Given the description of an element on the screen output the (x, y) to click on. 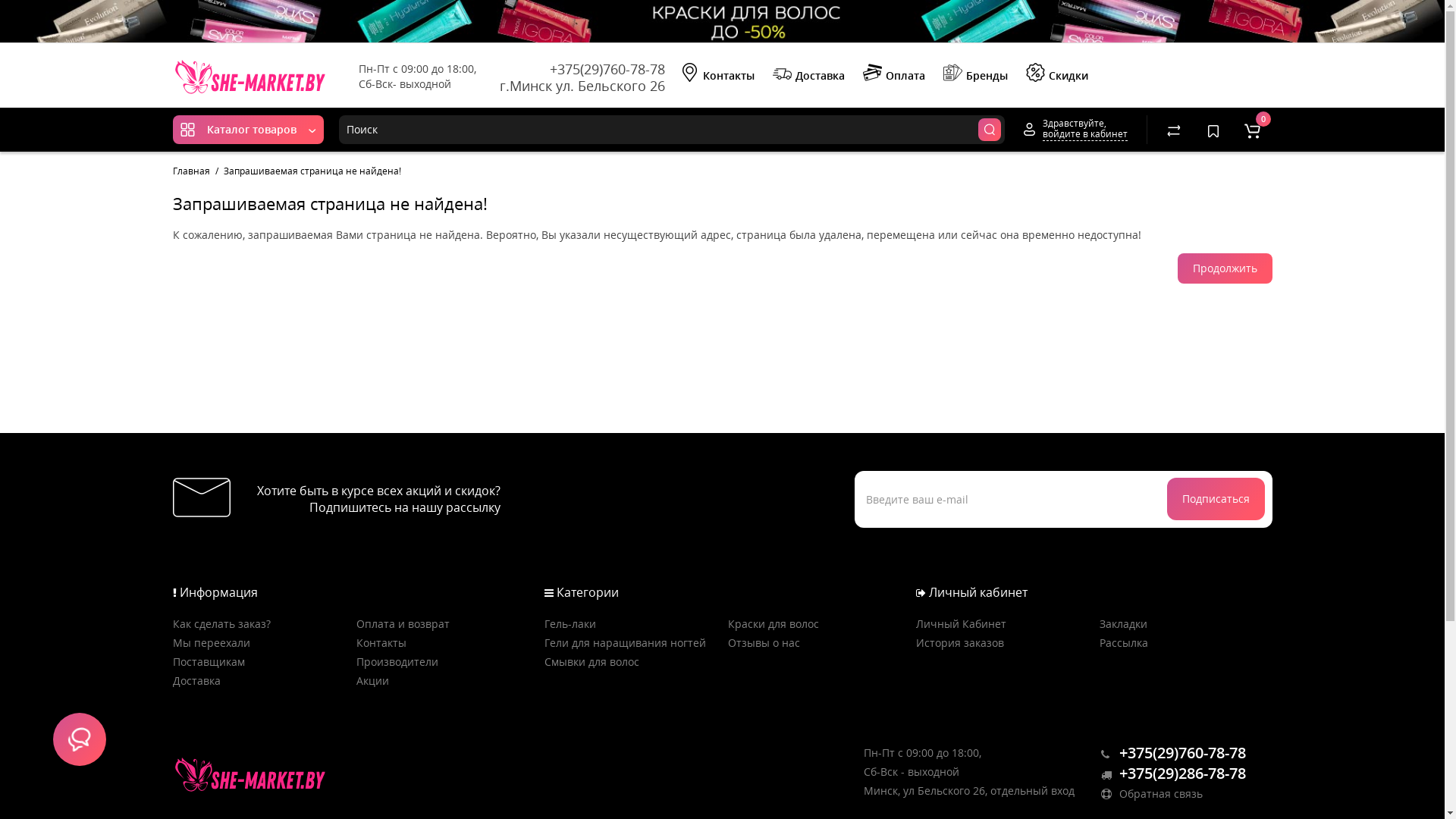
+375(29)760-78-78 Element type: text (1173, 753)
0 Element type: text (1252, 129)
+375(29)286-78-78 Element type: text (1173, 774)
+375(29)760-78-78 Element type: text (606, 68)
